Given the description of an element on the screen output the (x, y) to click on. 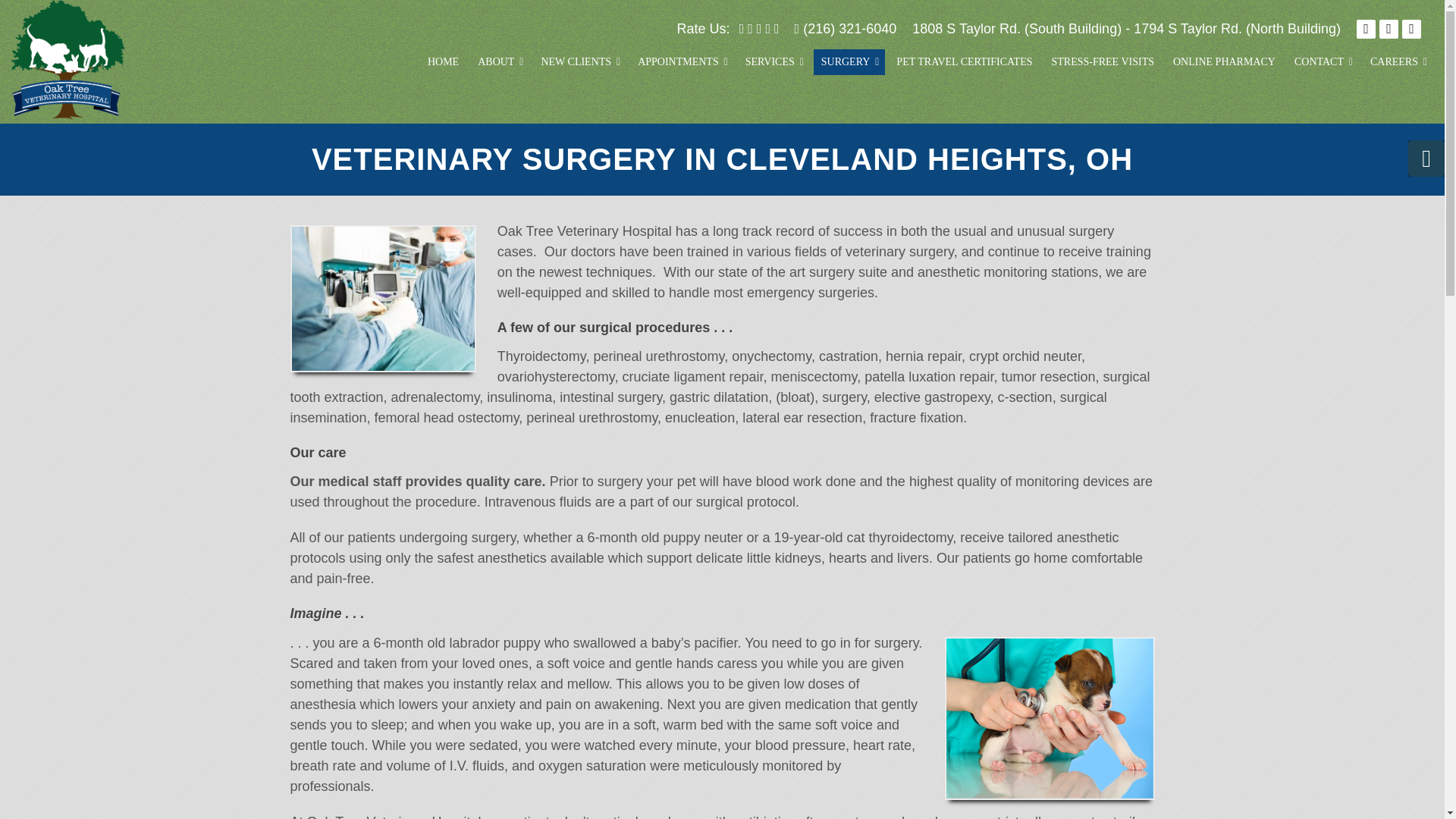
ABOUT (499, 62)
SURGERY (849, 62)
HOME (442, 62)
SERVICES (773, 62)
NEW CLIENTS (579, 62)
APPOINTMENTS (681, 62)
